Given the description of an element on the screen output the (x, y) to click on. 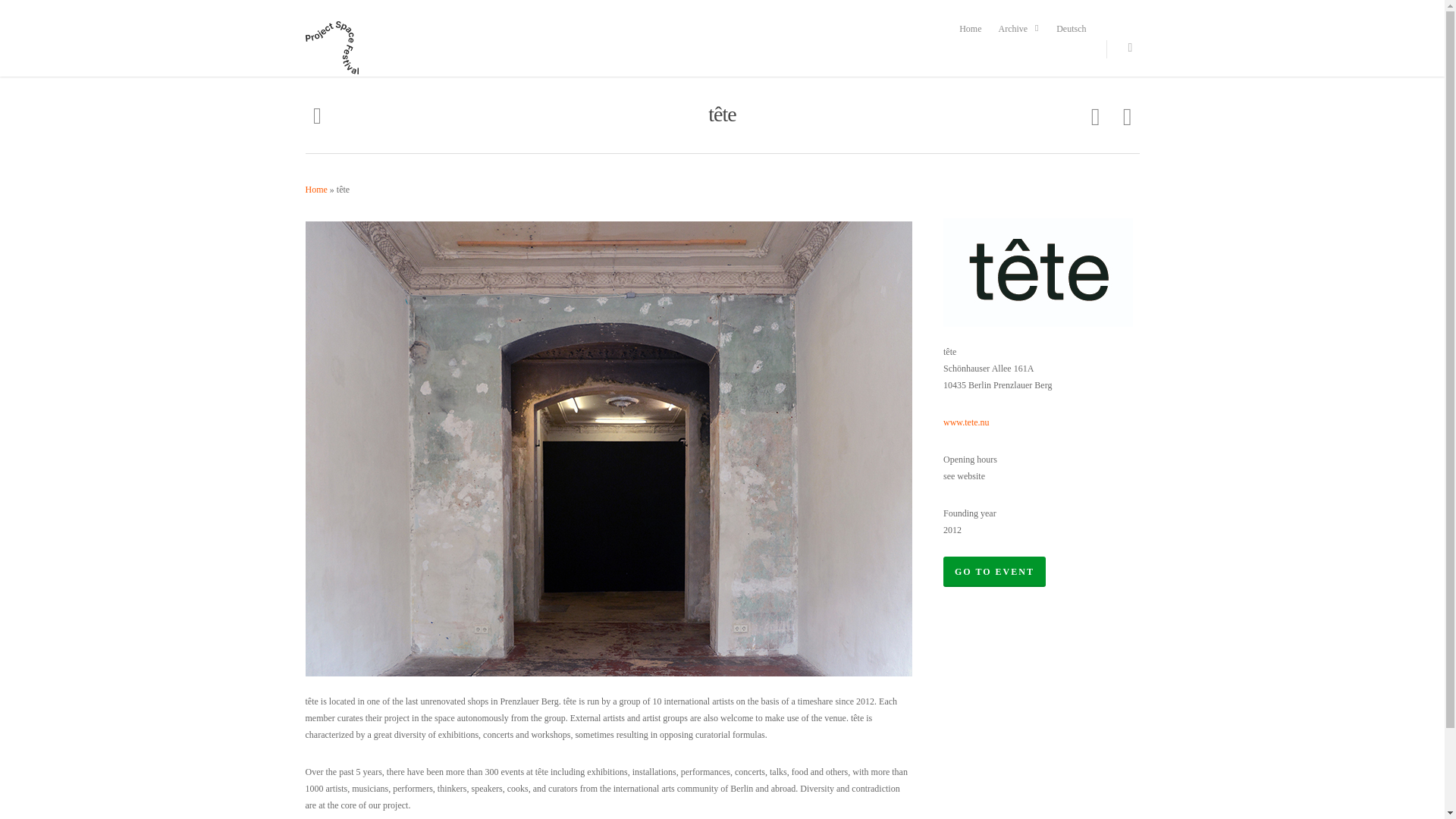
Deutsch (1070, 28)
Home (970, 28)
Archive (1019, 28)
